Given the description of an element on the screen output the (x, y) to click on. 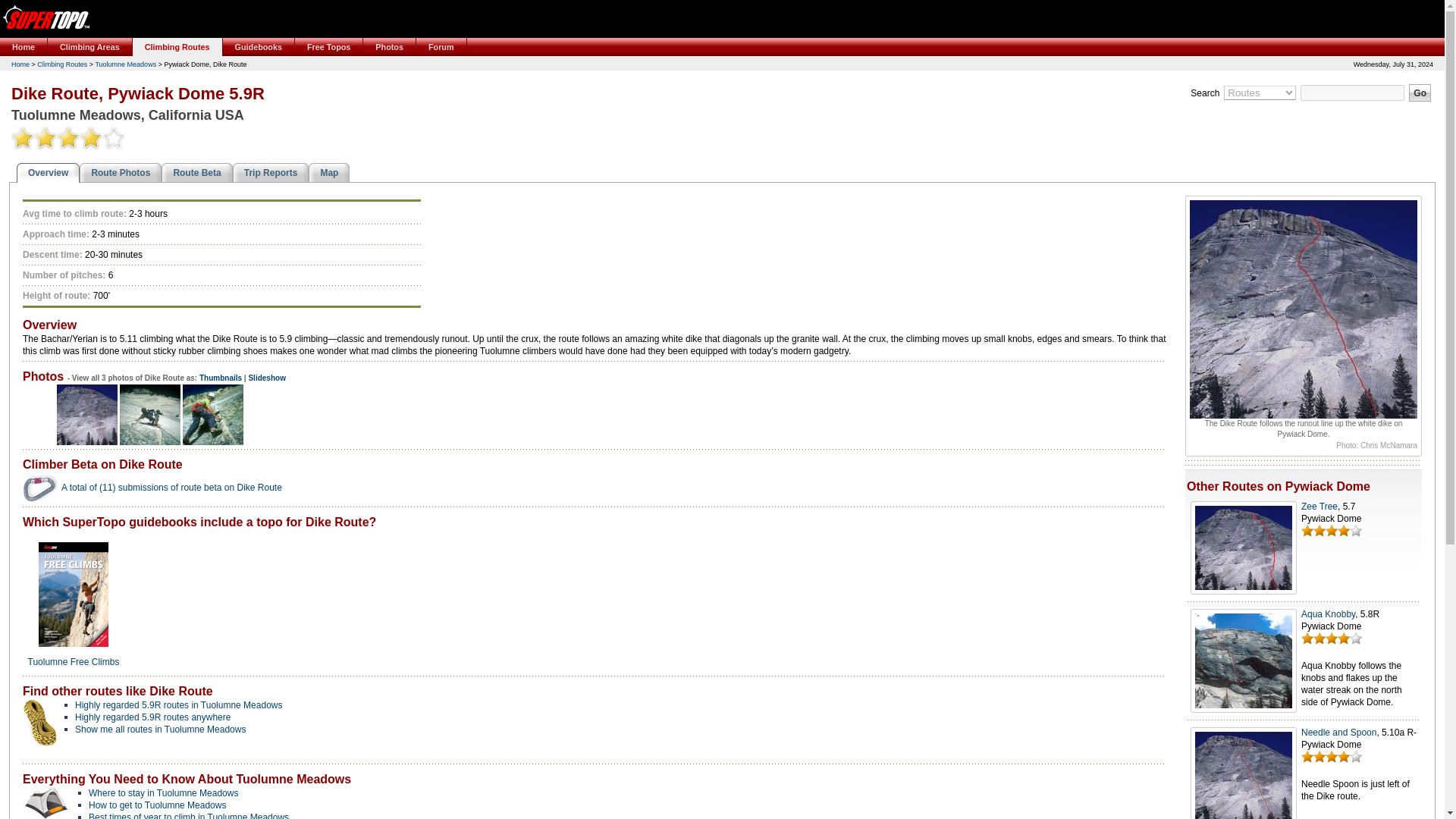
Climbing Areas (90, 46)
Home (24, 46)
Guidebooks (258, 46)
Climbing Routes (177, 46)
